Given the description of an element on the screen output the (x, y) to click on. 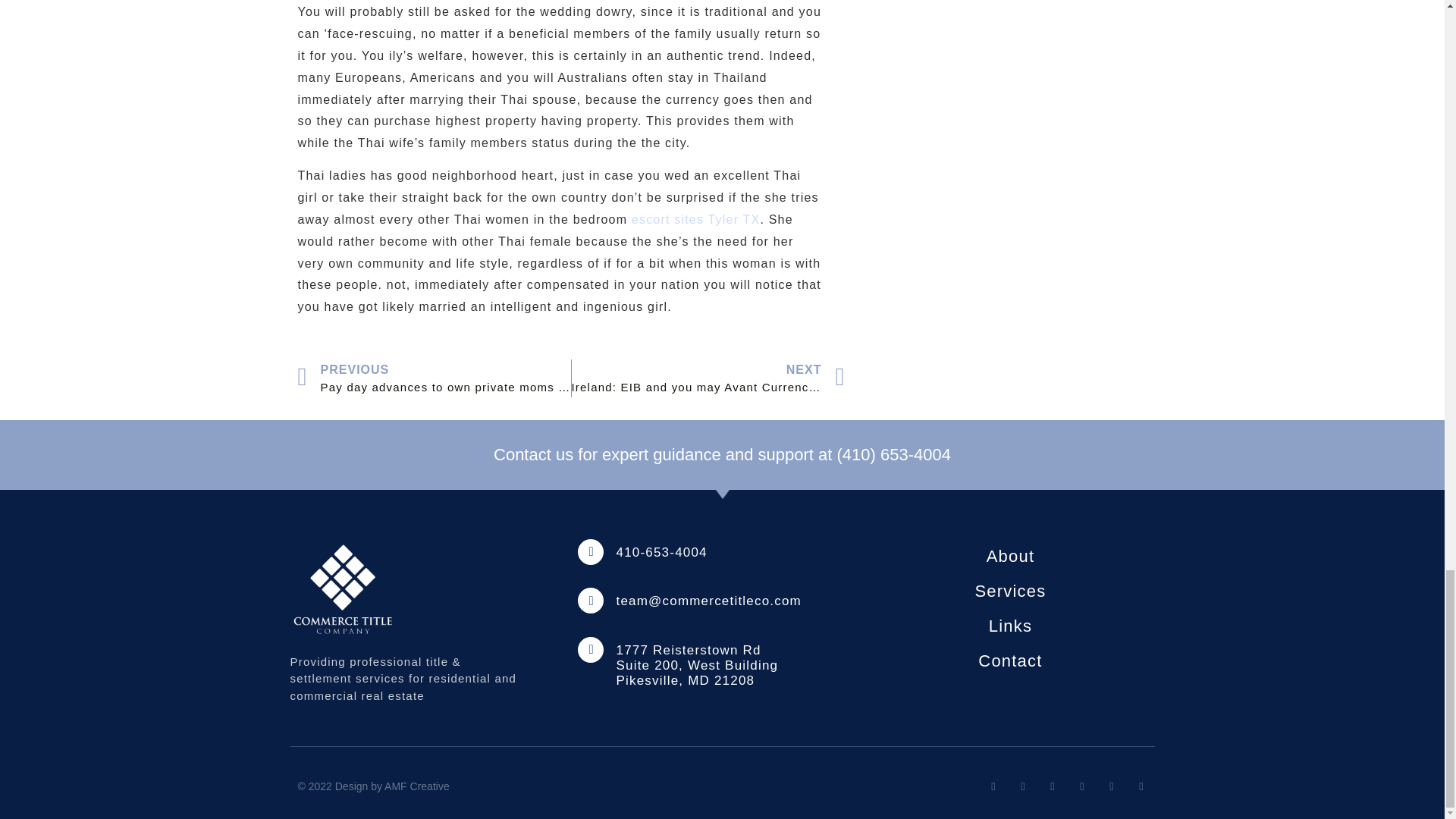
escort sites Tyler TX (695, 219)
Services (1010, 591)
About (1010, 556)
Contact (1010, 660)
Links (1010, 626)
410-653-4004 (660, 552)
